Given the description of an element on the screen output the (x, y) to click on. 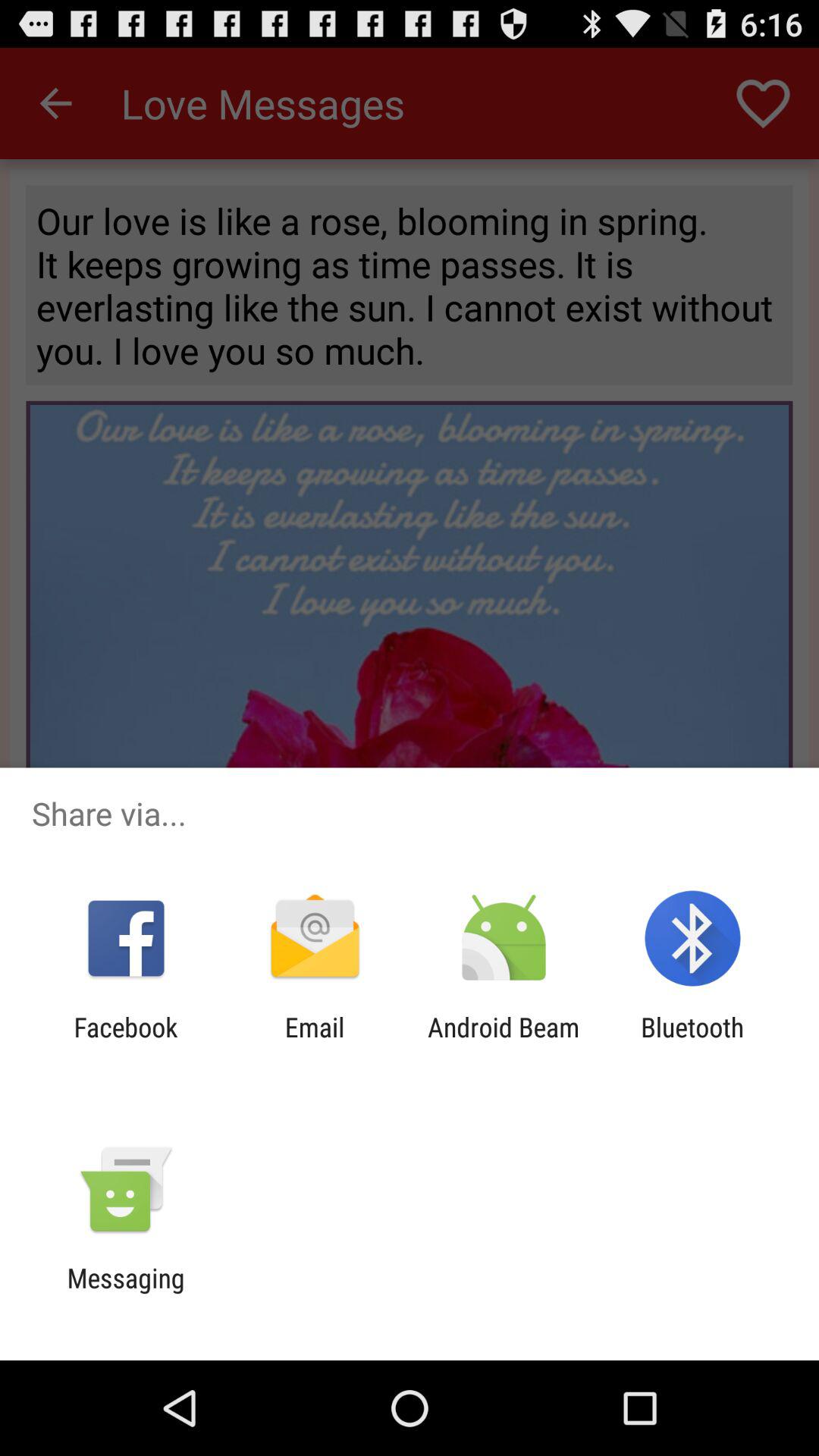
click the app next to the bluetooth app (503, 1042)
